Given the description of an element on the screen output the (x, y) to click on. 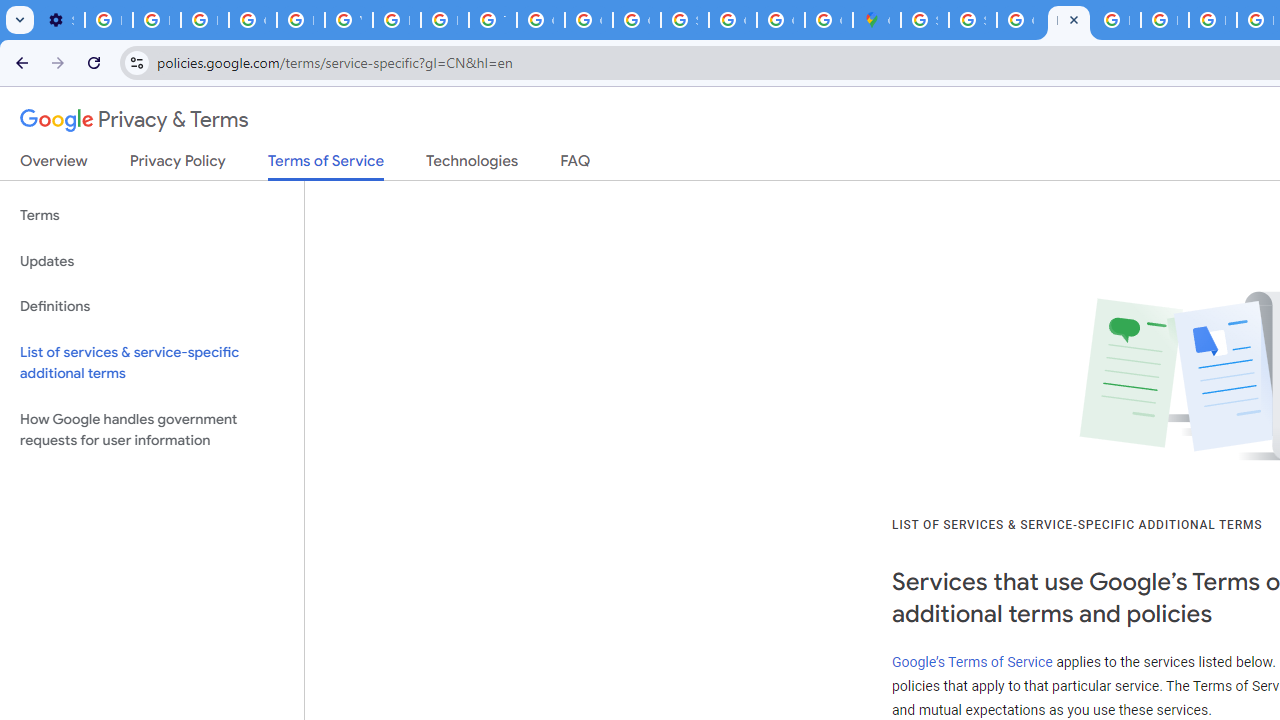
Privacy Help Center - Policies Help (444, 20)
Google Maps (876, 20)
Sign in - Google Accounts (972, 20)
Privacy Help Center - Policies Help (1212, 20)
Definitions (152, 306)
Sign in - Google Accounts (684, 20)
https://scholar.google.com/ (396, 20)
How Google handles government requests for user information (152, 429)
